Given the description of an element on the screen output the (x, y) to click on. 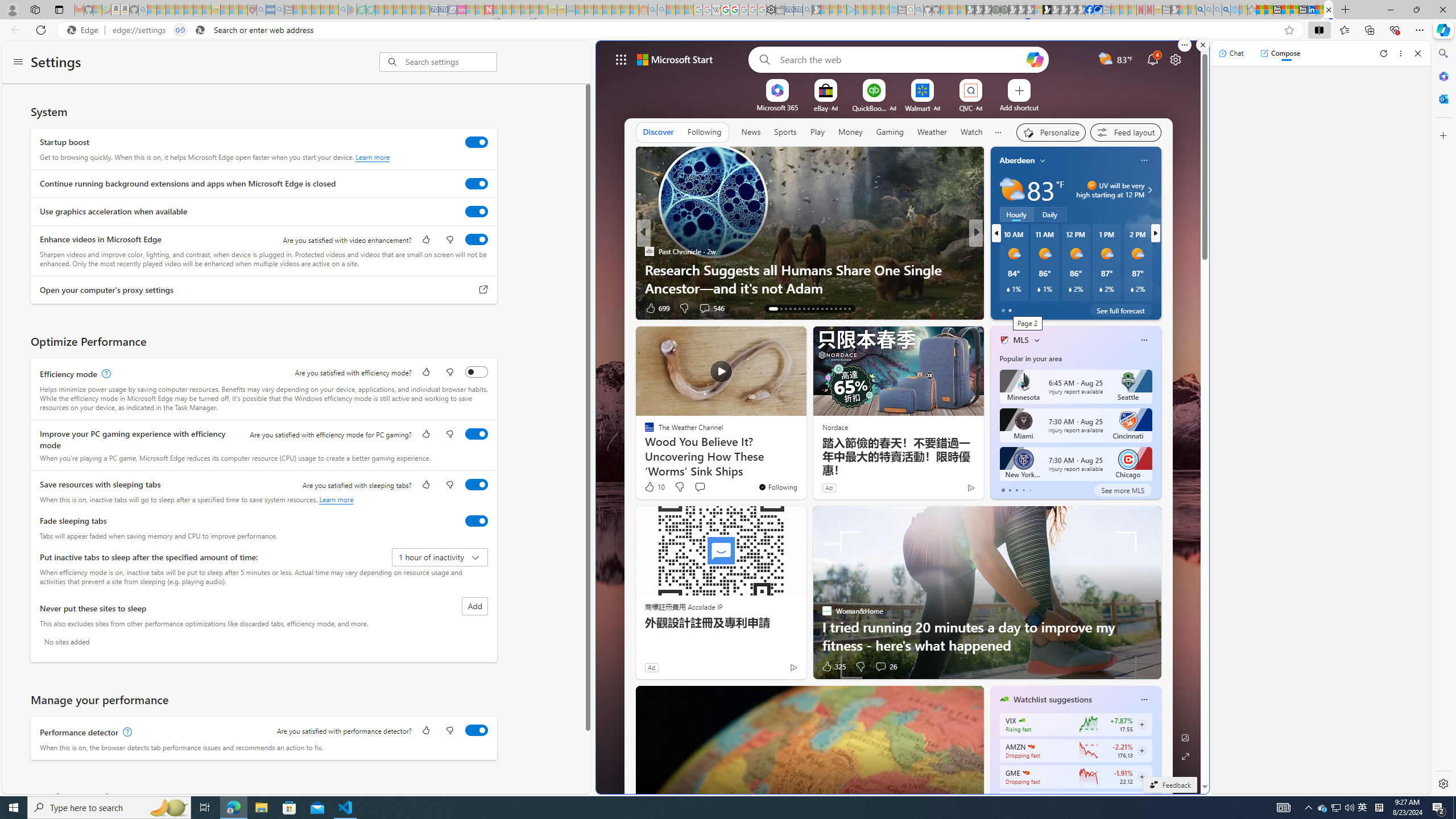
887 Like (1007, 307)
View comments 543 Comment (1057, 307)
The Weather Channel - MSN - Sleeping (170, 9)
Pets - MSN - Sleeping (324, 9)
Close split screen. (1202, 45)
14 Common Myths Debunked By Scientific Facts - Sleeping (506, 9)
Efficiency mode (476, 371)
